Given the description of an element on the screen output the (x, y) to click on. 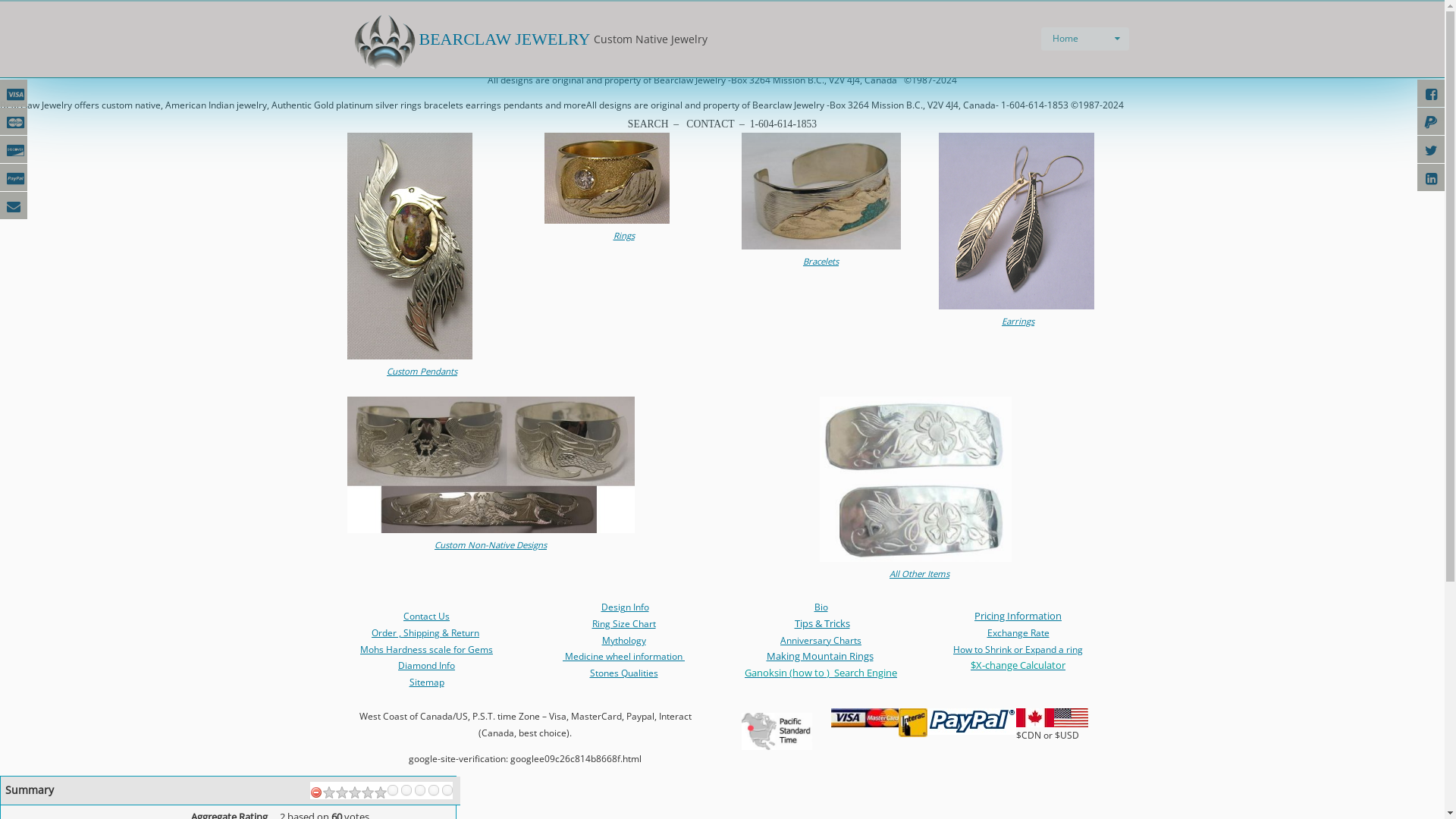
Ganoksin (how to )  Search Engine Element type: text (820, 672)
Exchange Rate Element type: text (1018, 632)
Visa Mastercard Element type: hover (864, 718)
4 Element type: text (367, 792)
Diamond Info Element type: text (426, 664)
Anniversary Charts Element type: text (820, 639)
2 Element type: text (341, 792)
Bio Element type: text (821, 606)
5 Element type: text (380, 792)
Rings Element type: text (622, 235)
How to Shrink or Expand a ring Element type: text (1017, 649)
Contact Email Element type: text (654, 53)
Mythology Element type: text (624, 639)
Medicine wheel information Element type: text (623, 655)
Custom Non-Native Designs Element type: text (490, 544)
Bracelets Element type: text (820, 260)
Return Element type: text (465, 632)
3 Element type: text (354, 792)
Design Info Element type: text (624, 606)
Mohs Hardness scale for Gems Element type: text (426, 649)
Cancel Rating Element type: hover (316, 792)
Pricing Information Element type: text (1017, 615)
Interact Charge Card for Canada Element type: hover (911, 722)
  Element type: text (683, 655)
All Other Items Element type: text (919, 573)
Custom Pendants Element type: text (421, 370)
CONTACT Element type: text (710, 123)
Earrings Element type: text (1017, 320)
paypal Element type: hover (970, 721)
Sitemap Element type: text (426, 681)
Ring Size Chart Element type: text (623, 623)
$X-change Calculator Element type: text (1017, 664)
Order , Shipping & Element type: text (411, 632)
US Flag Element type: hover (1071, 717)
Pricing Information Element type: text (722, 25)
1 Element type: text (329, 792)
Bearclaw custom native jewelry - North America Element type: hover (776, 730)
Contact Us Element type: text (426, 615)
Tips & Tricks Element type: text (822, 623)
BEARCLAW JEWELRY Element type: text (468, 39)
  Element type: text (563, 655)
Stones Qualities Element type: text (623, 672)
Making Mountain Rings Element type: text (818, 655)
